Given the description of an element on the screen output the (x, y) to click on. 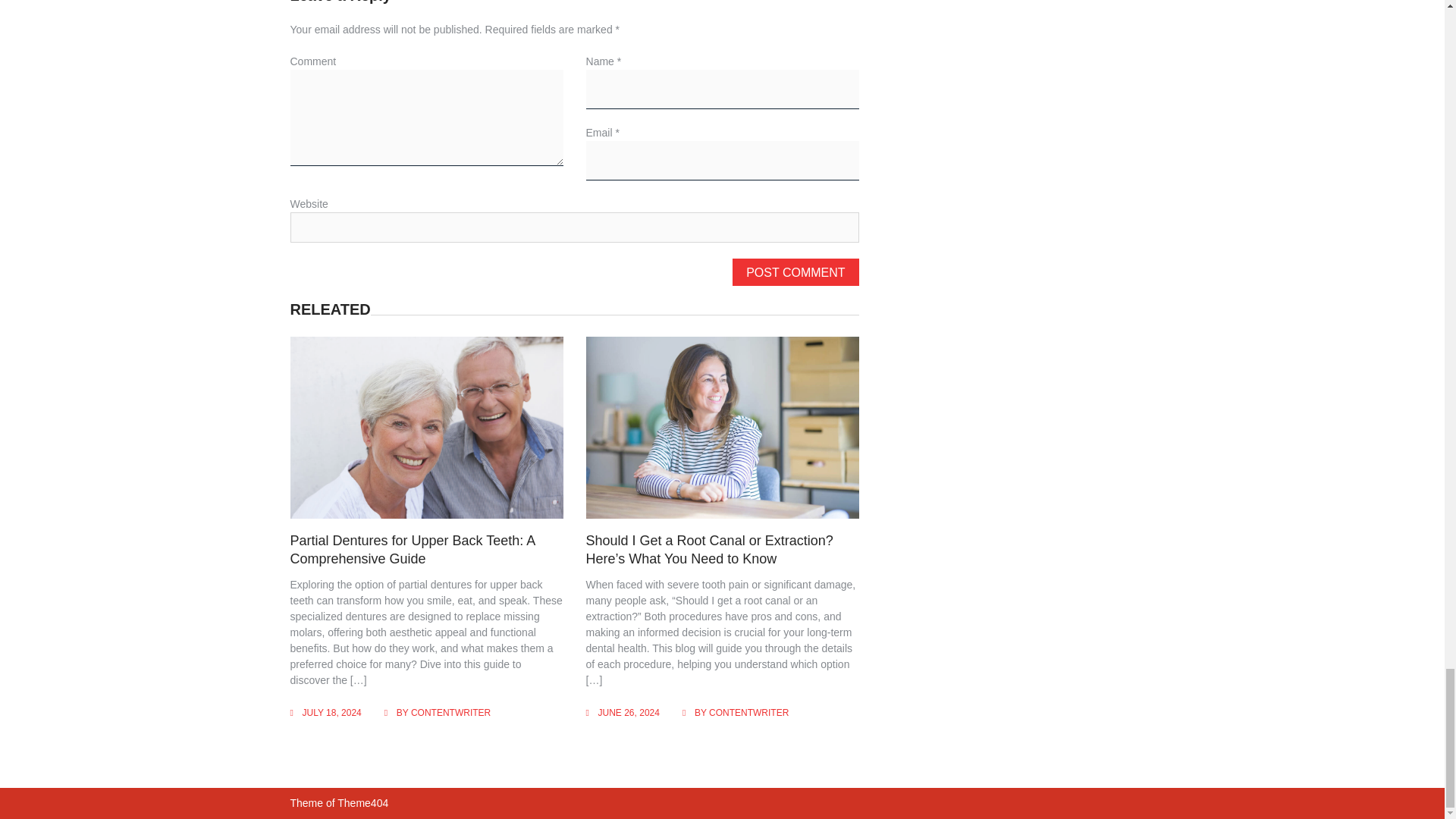
CONTENTWRITER (749, 712)
Post Comment (795, 271)
Post Comment (795, 271)
Partial Dentures for Upper Back Teeth: A Comprehensive Guide (411, 549)
JUNE 26, 2024 (628, 712)
JULY 18, 2024 (331, 712)
CONTENTWRITER (450, 712)
